Given the description of an element on the screen output the (x, y) to click on. 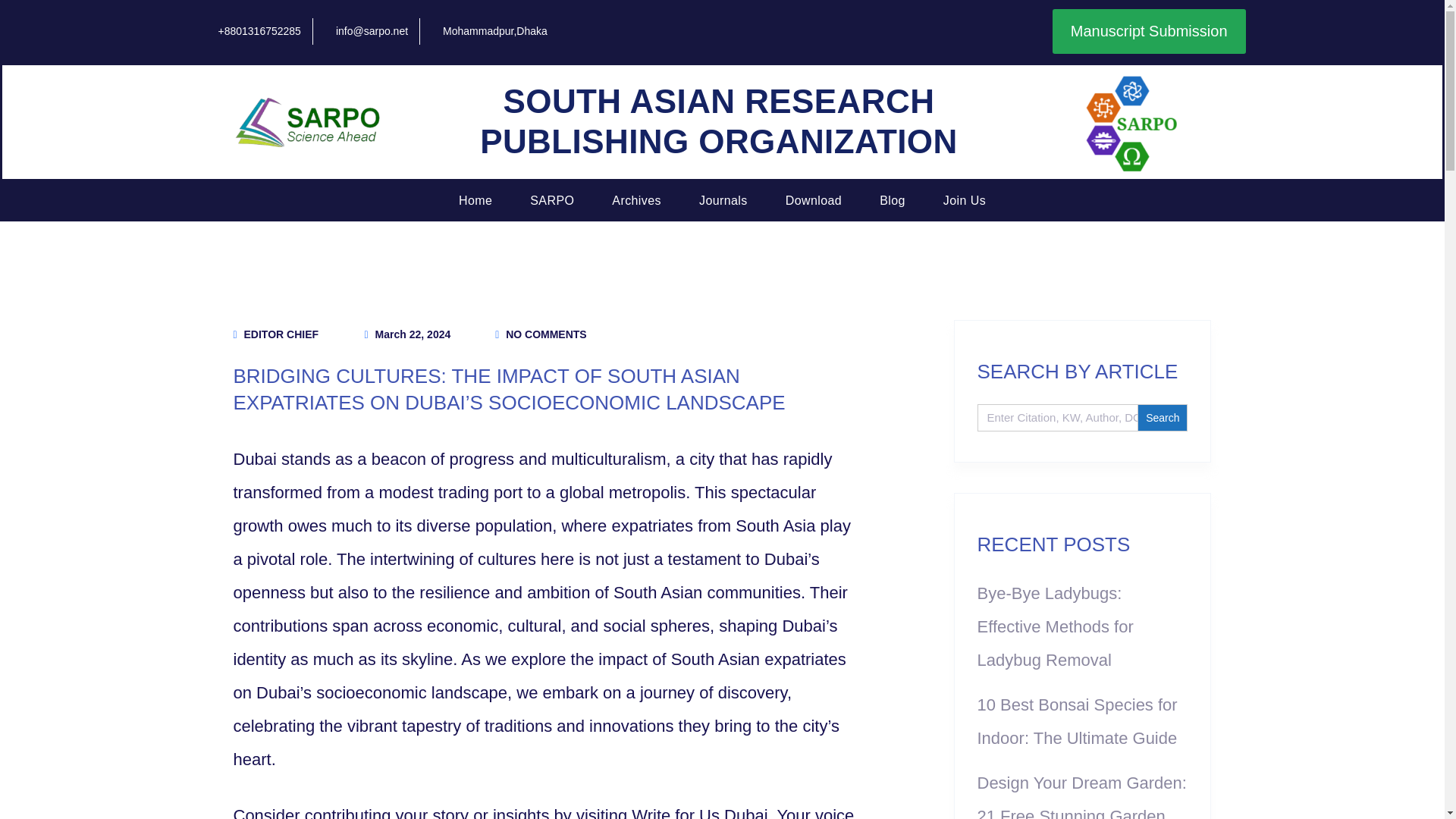
Manuscript Submission (1149, 31)
Home (475, 201)
Download (813, 201)
SARPO (551, 201)
Archives (636, 201)
Journals (723, 201)
Search (1162, 417)
Search (1162, 417)
SOUTH ASIAN RESEARCH PUBLISHING ORGANIZATION (719, 120)
